Given the description of an element on the screen output the (x, y) to click on. 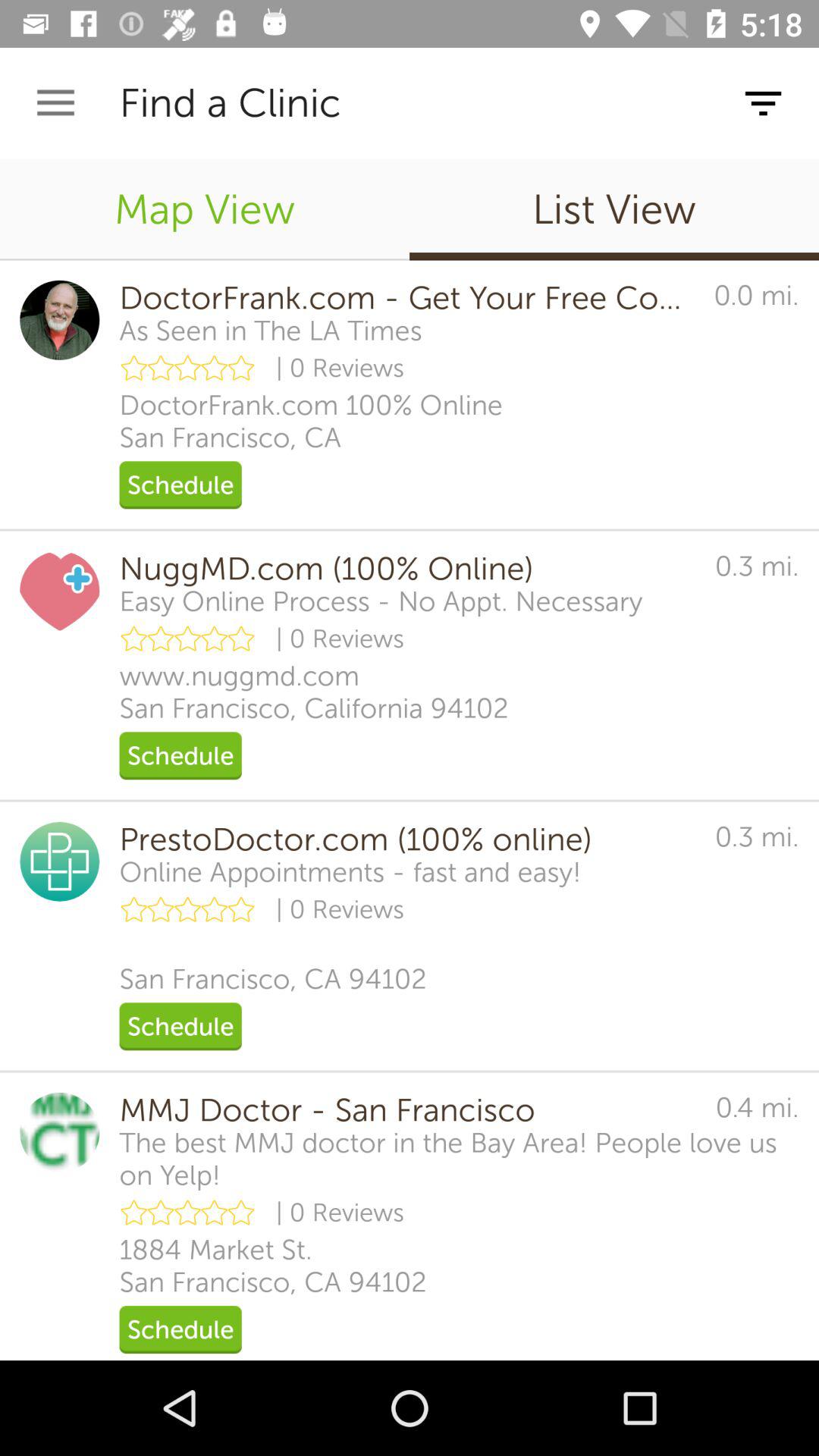
tap the icon below the mmj doctor san icon (459, 1158)
